Given the description of an element on the screen output the (x, y) to click on. 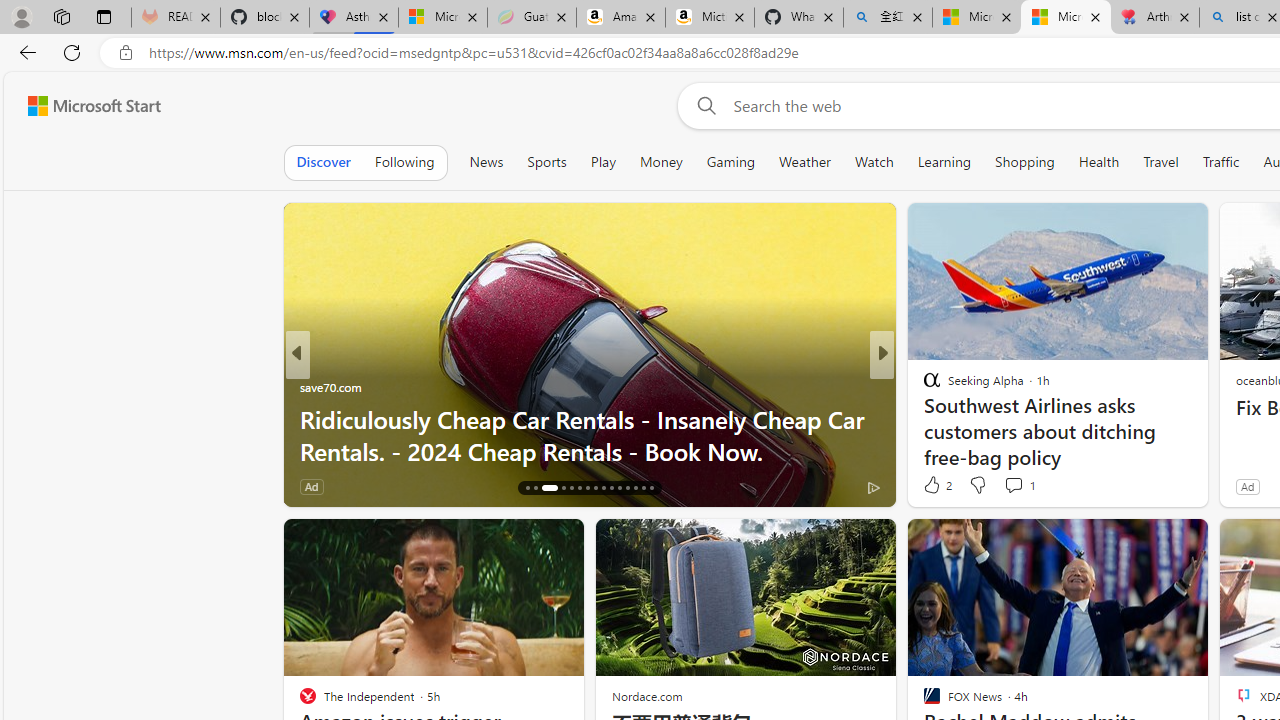
AutomationID: tab-30 (650, 487)
AutomationID: tab-20 (571, 487)
View comments 25 Comment (1022, 486)
AutomationID: tab-27 (627, 487)
SB Nation (923, 386)
Web search (702, 105)
Play (602, 161)
Ad Choice (264, 486)
Sports (546, 162)
View comments 9 Comment (1019, 486)
20 Like (934, 486)
AutomationID: tab-22 (586, 487)
Shopping (1025, 161)
